Given the description of an element on the screen output the (x, y) to click on. 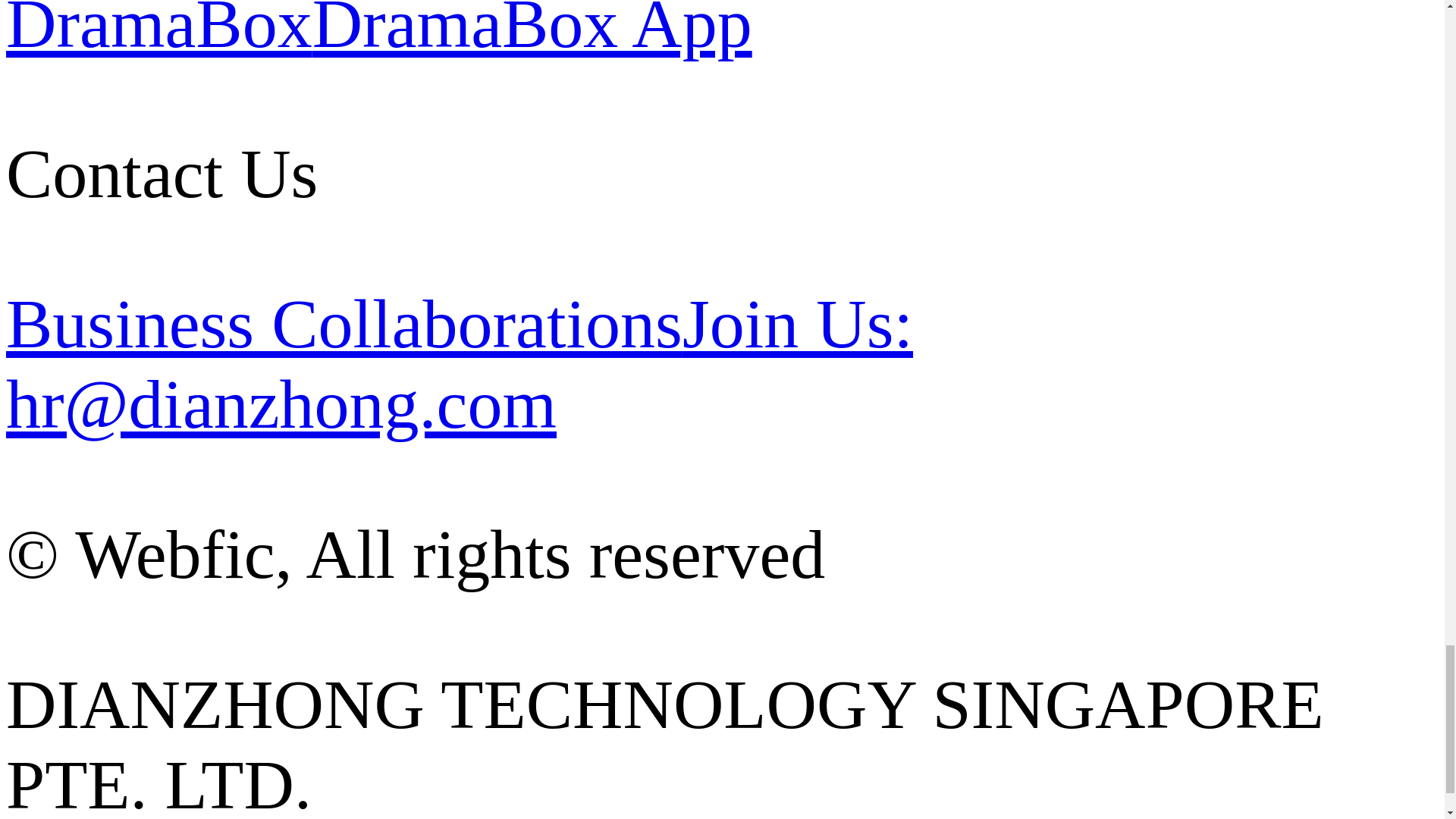
Business Collaborations (343, 323)
DramaBox (159, 31)
DramaBox App (532, 31)
